Given the description of an element on the screen output the (x, y) to click on. 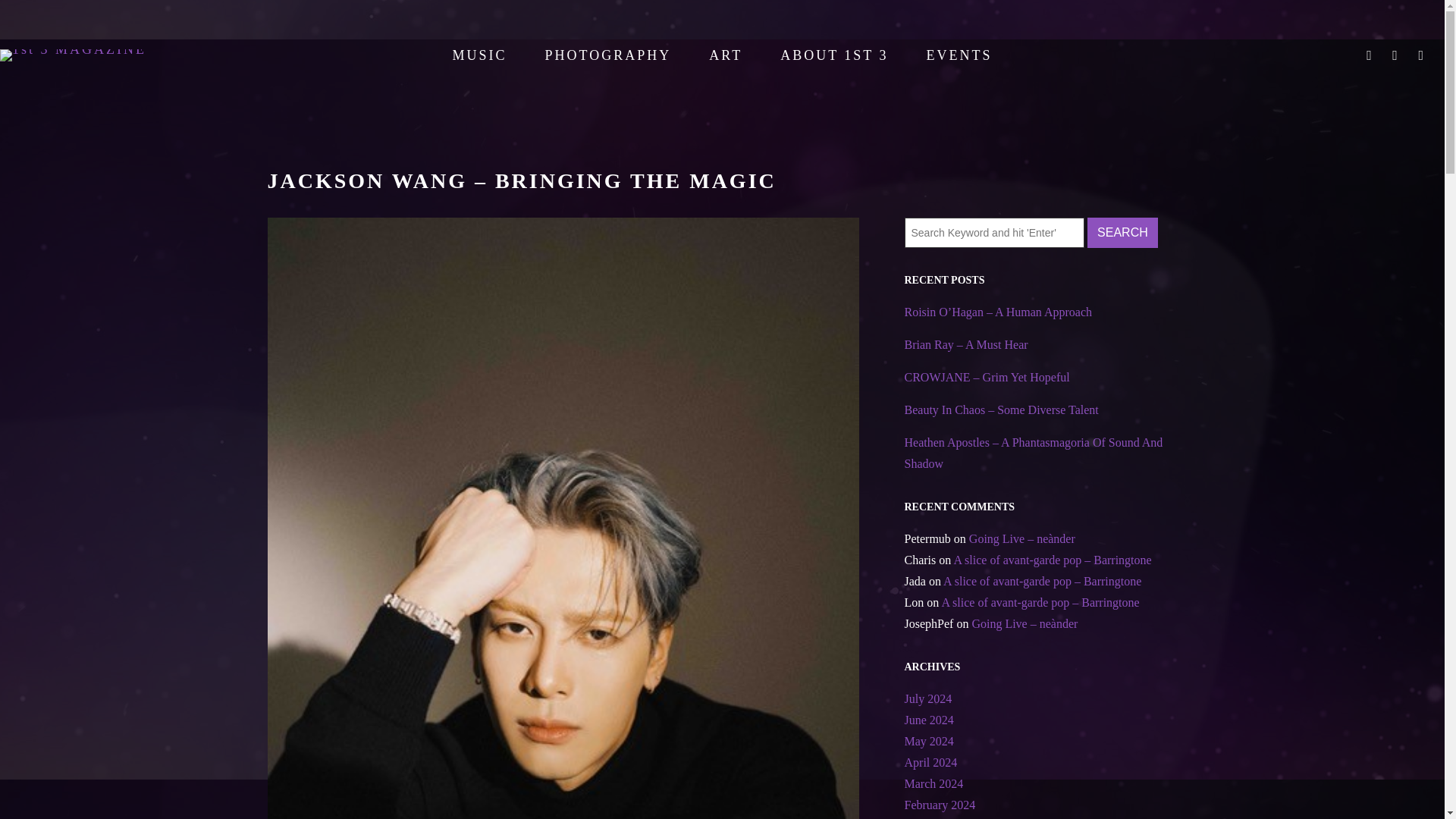
EVENTS (959, 54)
MUSIC (478, 54)
ABOUT 1ST 3 (833, 54)
ART (725, 54)
Search (1122, 232)
Search (1122, 232)
PHOTOGRAPHY (608, 54)
